Given the description of an element on the screen output the (x, y) to click on. 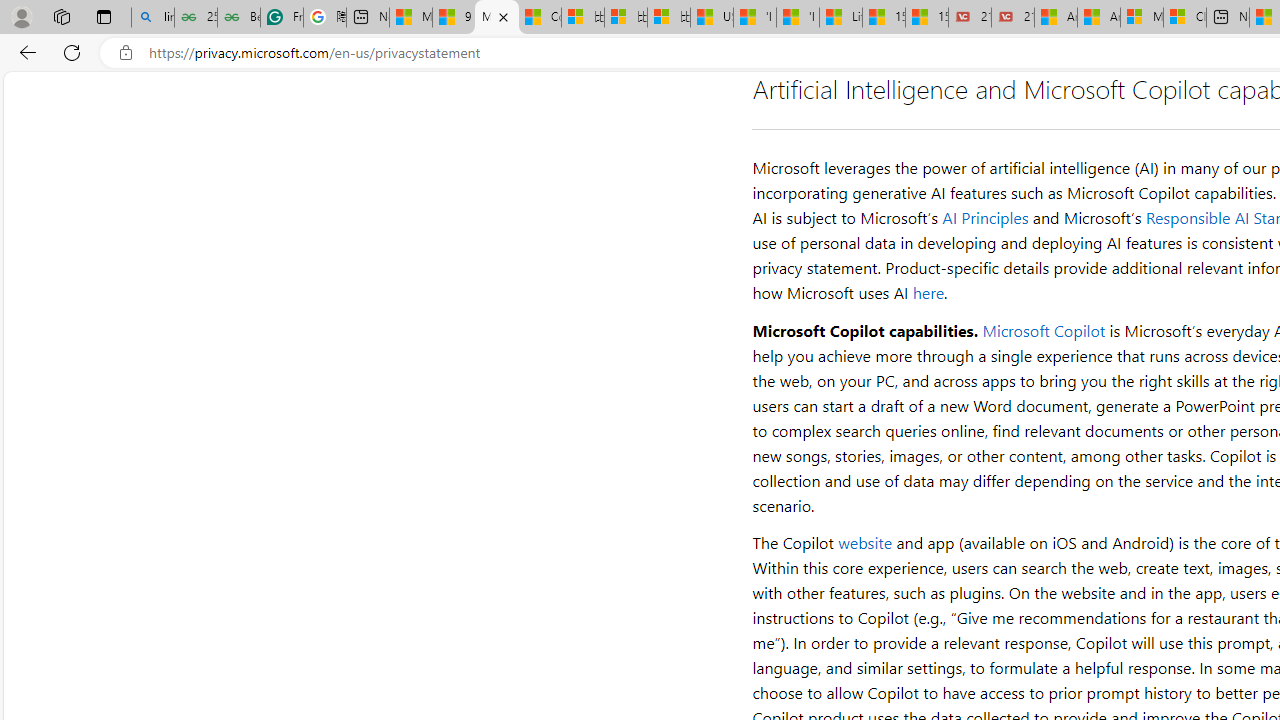
USA TODAY - MSN (712, 17)
website (865, 542)
Cloud Computing Services | Microsoft Azure (1184, 17)
AI Principles (985, 217)
15 Ways Modern Life Contradicts the Teachings of Jesus (927, 17)
linux basic - Search (152, 17)
Best SSL Certificates Provider in India - GeeksforGeeks (238, 17)
Lifestyle - MSN (840, 17)
here (927, 292)
